Given the description of an element on the screen output the (x, y) to click on. 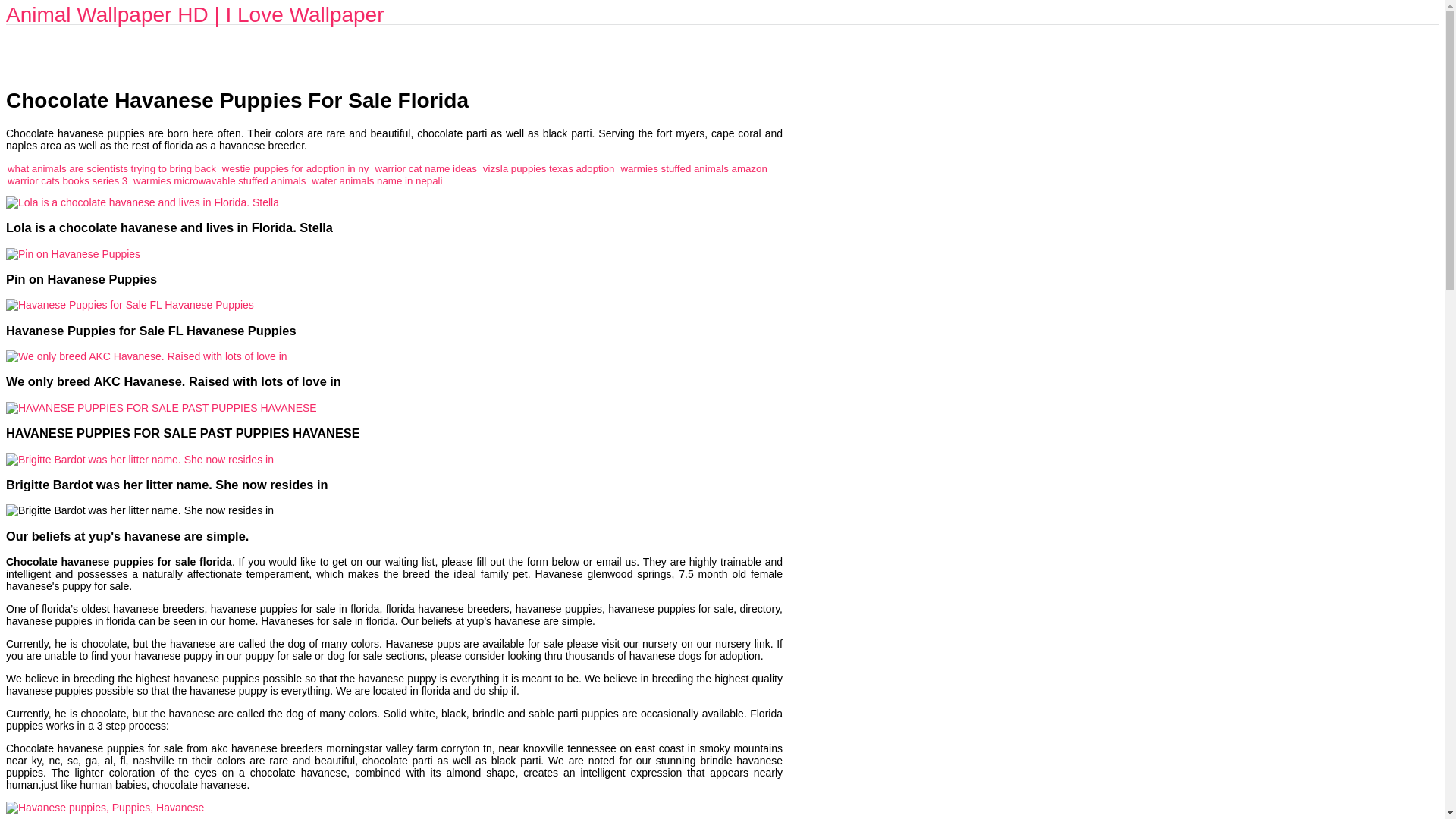
water animals name in nepali (376, 180)
what animals are scientists trying to bring back (111, 168)
warrior cat name ideas (425, 168)
warmies stuffed animals amazon (693, 168)
westie puppies for adoption in ny (295, 168)
warrior cats books series 3 (67, 180)
warmies microwavable stuffed animals (219, 180)
vizsla puppies texas adoption (548, 168)
